Given the description of an element on the screen output the (x, y) to click on. 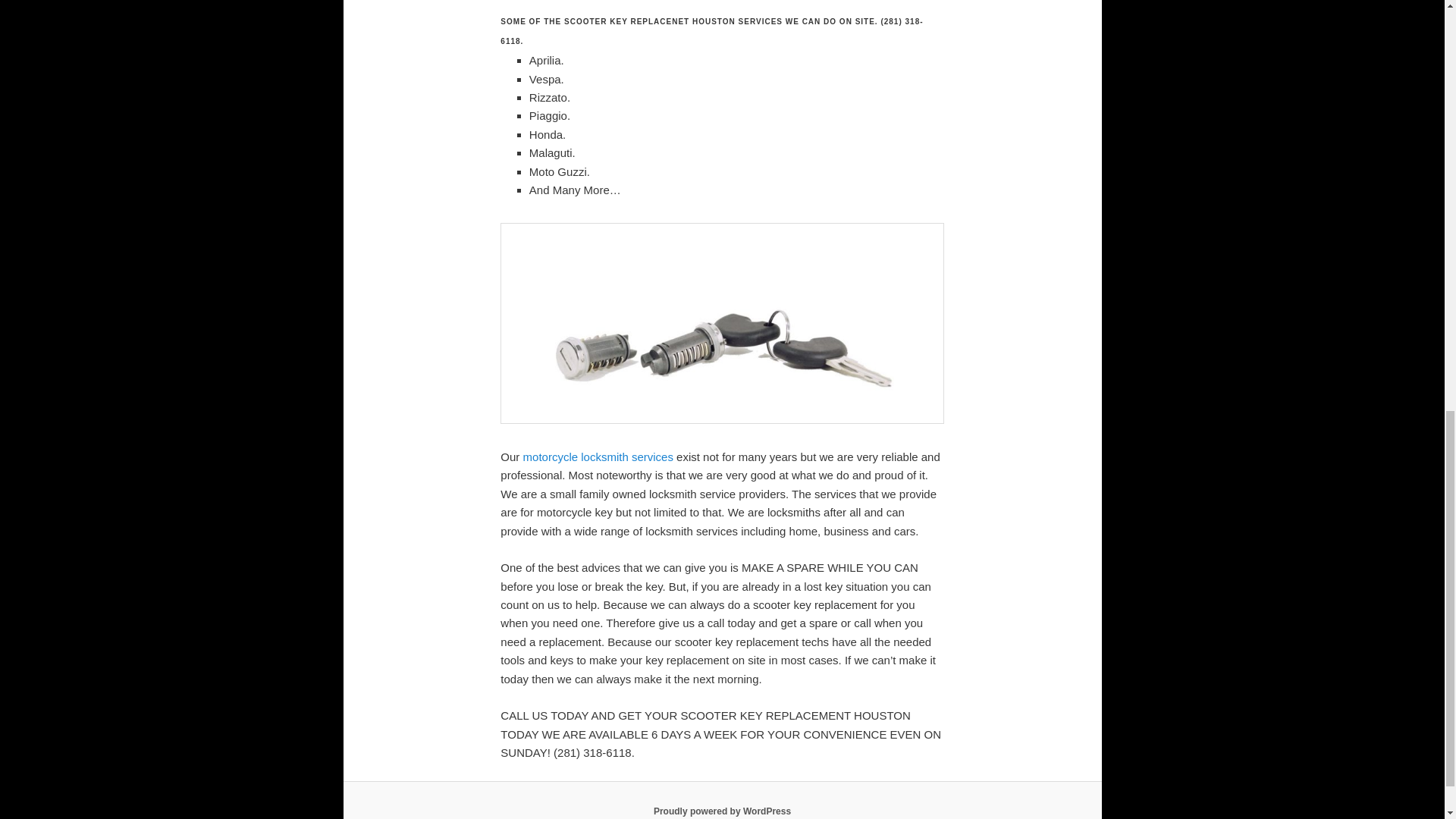
motorcycle locksmith services (597, 456)
Semantic Personal Publishing Platform (721, 810)
Proudly powered by WordPress (721, 810)
